Given the description of an element on the screen output the (x, y) to click on. 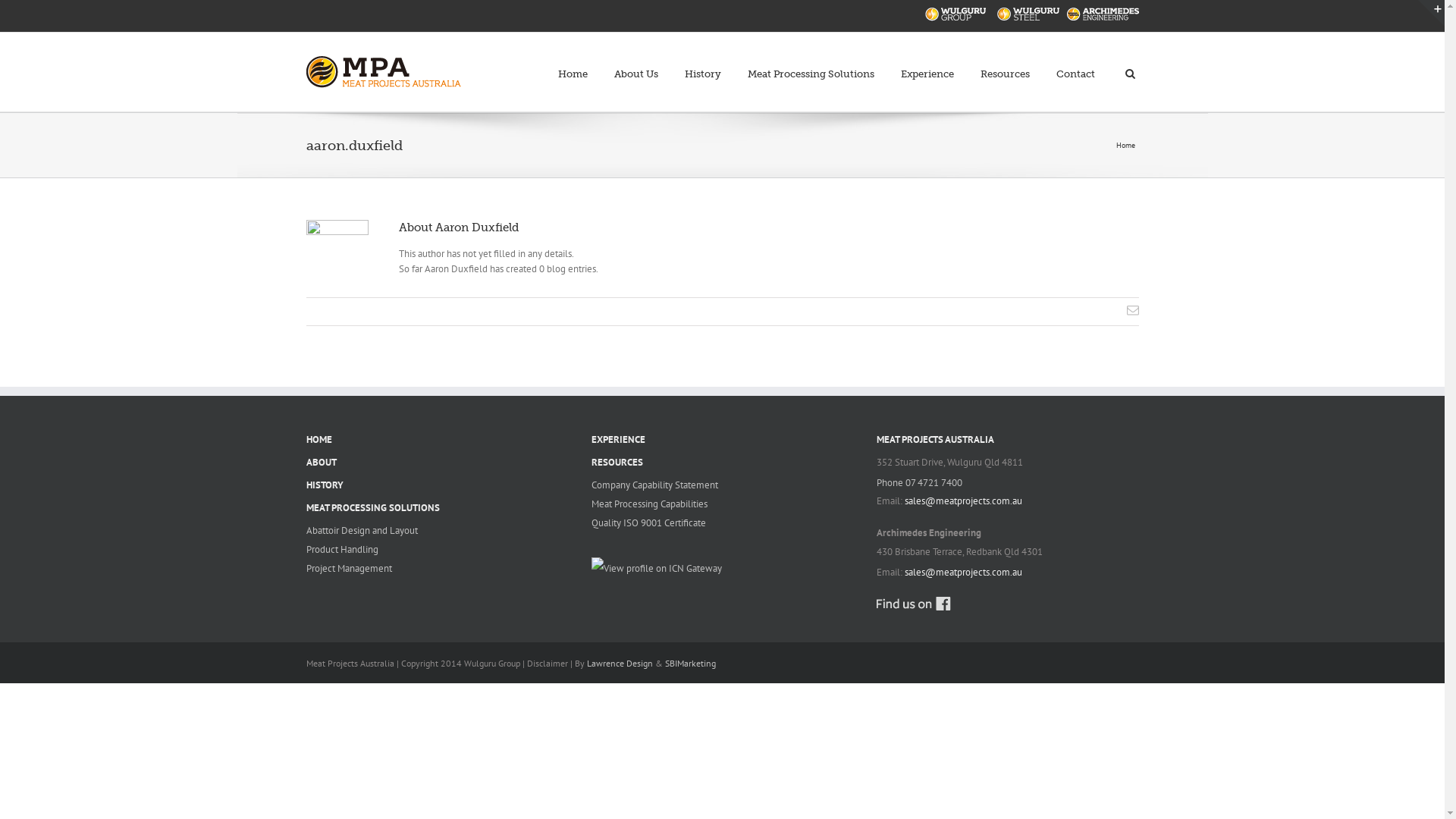
Lawrence Design Element type: text (619, 662)
EXPERIENCE Element type: text (722, 439)
History Element type: text (702, 64)
Company Capability Statement Element type: text (722, 484)
Product Handling Element type: text (437, 549)
Home Element type: text (1127, 144)
Quality ISO 9001 Certificate Element type: text (722, 522)
HISTORY Element type: text (437, 484)
HOME Element type: text (437, 439)
Email: sales@meatprojects.com.au Element type: text (1007, 501)
Home Element type: text (572, 64)
Phone 07 4721 7400 Element type: text (1007, 482)
Project Management Element type: text (437, 568)
Meat Processing Capabilities Element type: text (722, 503)
Email: sales@meatprojects.com.au Element type: text (1007, 572)
MEAT PROCESSING SOLUTIONS Element type: text (437, 507)
Abattoir Design and Layout Element type: text (437, 530)
Contact Element type: text (1074, 64)
SBIMarketing Element type: text (689, 662)
Mail Element type: hover (1132, 310)
About Us Element type: text (636, 64)
RESOURCES Element type: text (722, 462)
Meat Processing Solutions Element type: text (810, 64)
MEAT PROJECTS AUSTRALIA Element type: text (1007, 439)
ABOUT Element type: text (437, 462)
Experience Element type: text (926, 64)
Resources Element type: text (1004, 64)
